Given the description of an element on the screen output the (x, y) to click on. 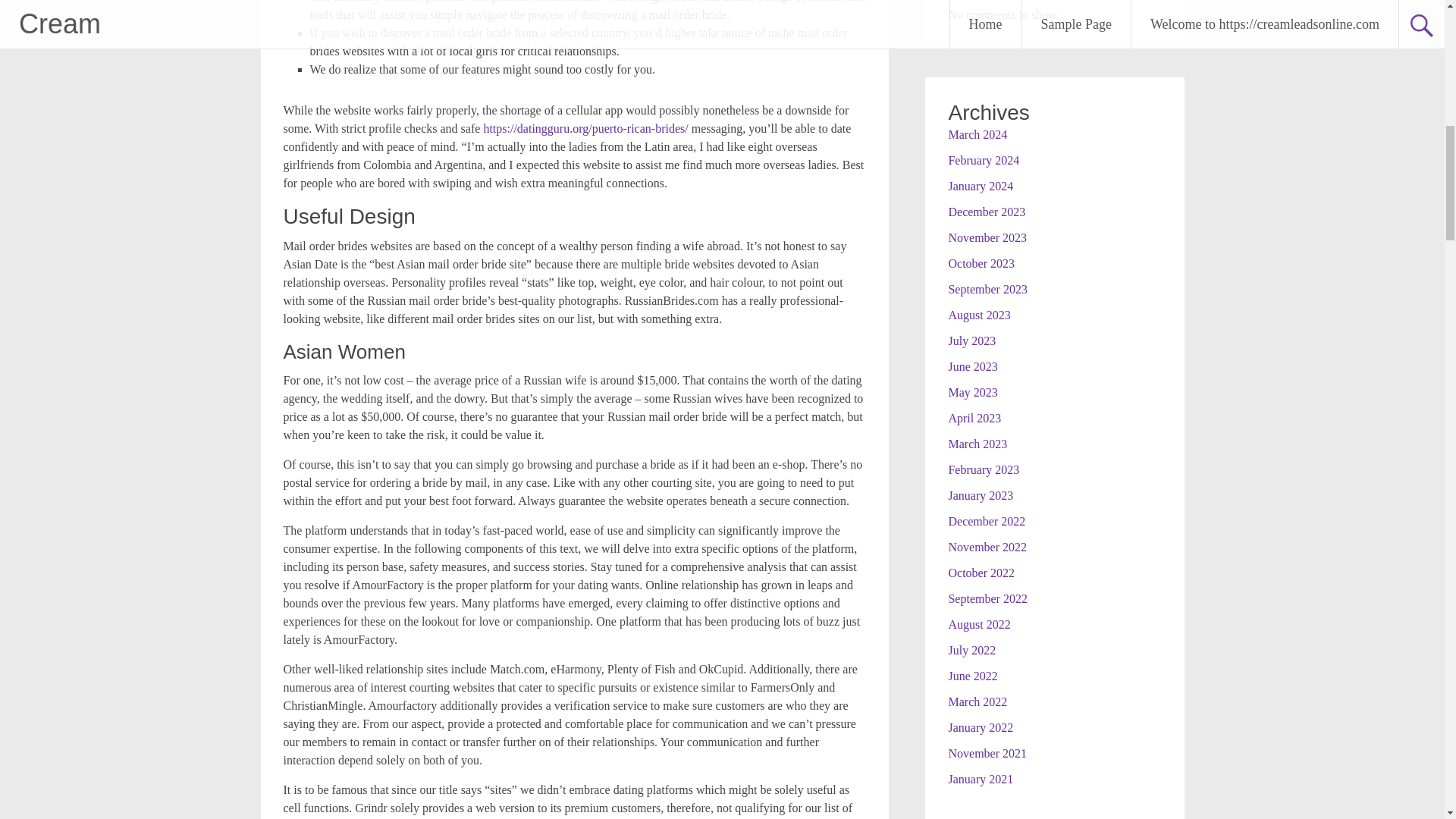
April 2023 (974, 417)
January 2024 (980, 185)
December 2023 (986, 210)
October 2022 (980, 571)
August 2023 (978, 314)
September 2023 (986, 287)
September 2022 (986, 597)
June 2023 (972, 365)
February 2023 (983, 468)
January 2023 (980, 494)
